Given the description of an element on the screen output the (x, y) to click on. 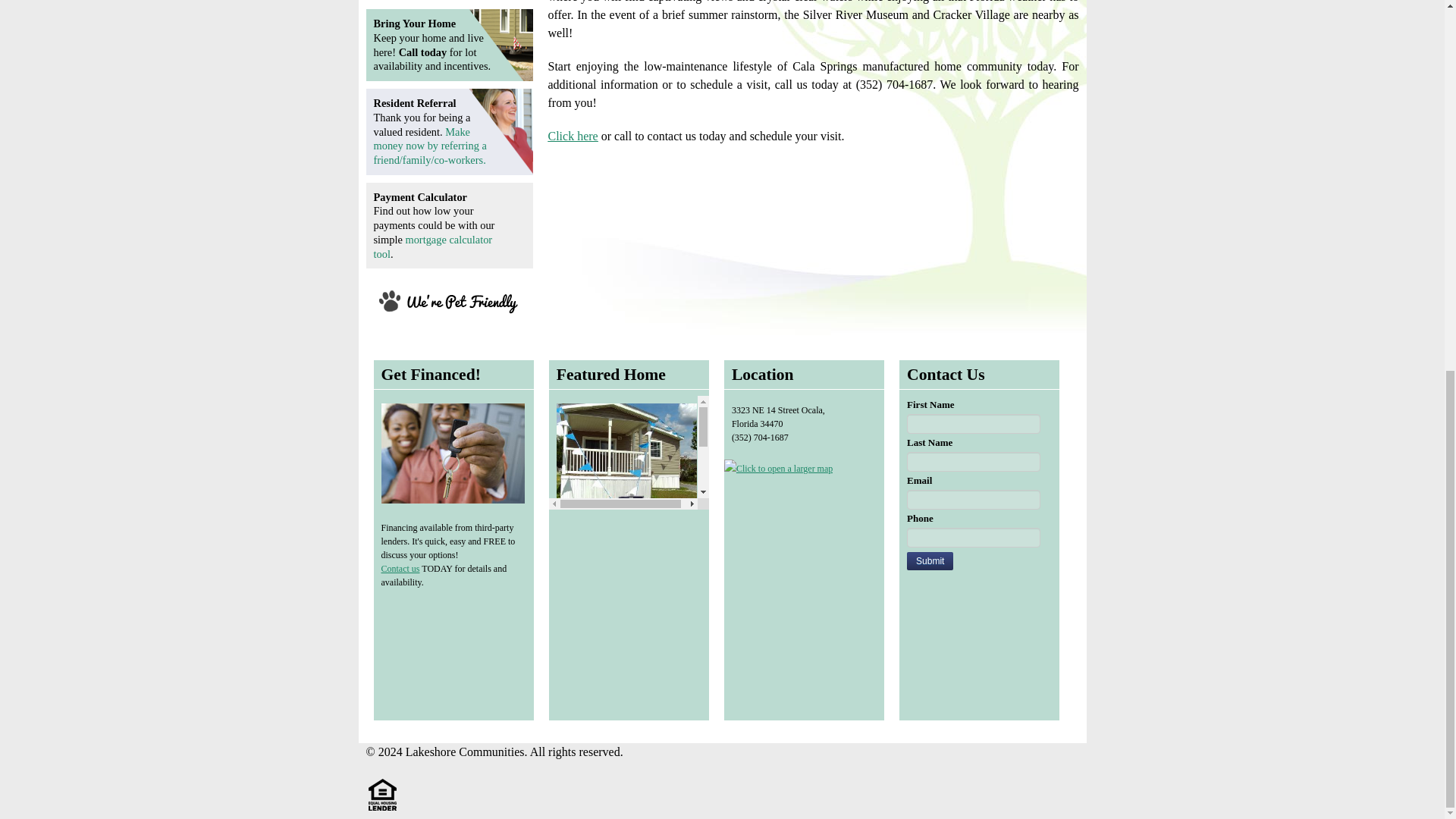
Click to open a larger map (777, 468)
Submit (930, 561)
mortgage calculator tool (432, 246)
Click here (571, 135)
Contact us (399, 568)
Submit (930, 561)
